Given the description of an element on the screen output the (x, y) to click on. 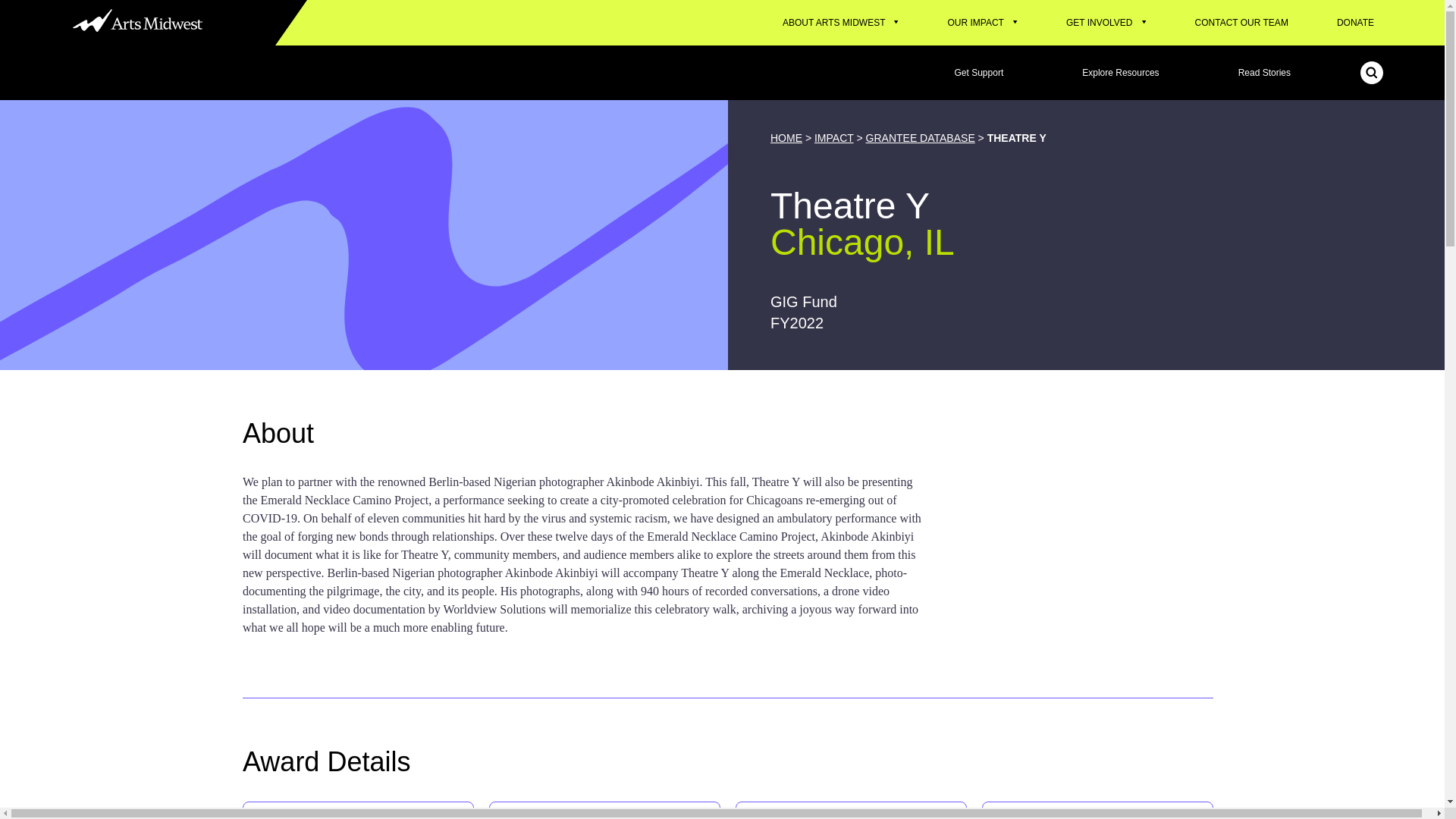
Get Support (978, 72)
CONTACT OUR TEAM (1241, 22)
DONATE (1355, 22)
